Given the description of an element on the screen output the (x, y) to click on. 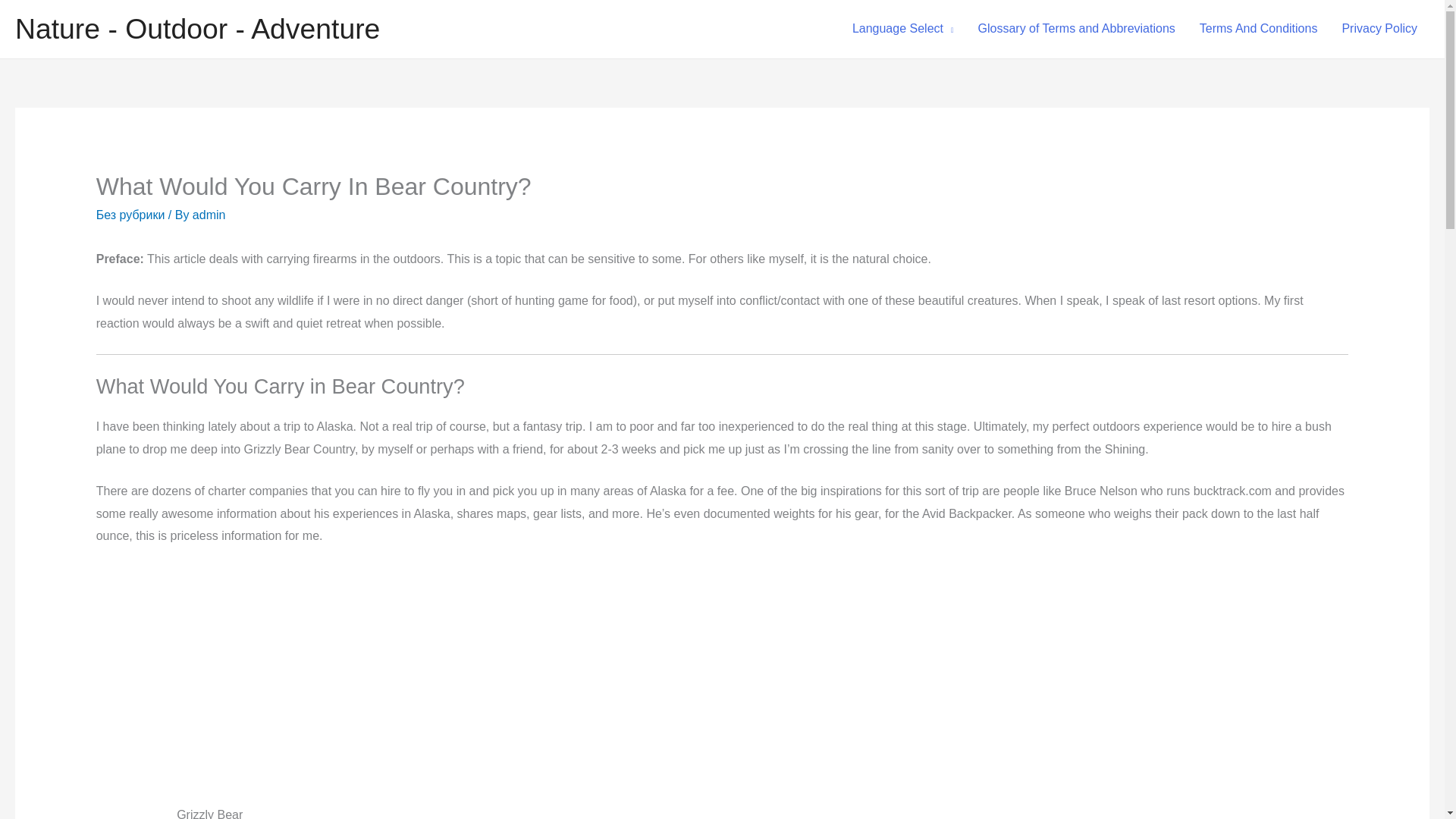
Terms And Conditions (1259, 28)
View all posts by admin (208, 214)
admin (208, 214)
Privacy Policy (1379, 28)
Glossary of Terms and Abbreviations (1077, 28)
Language Select (903, 28)
Nature - Outdoor - Adventure (197, 29)
